Given the description of an element on the screen output the (x, y) to click on. 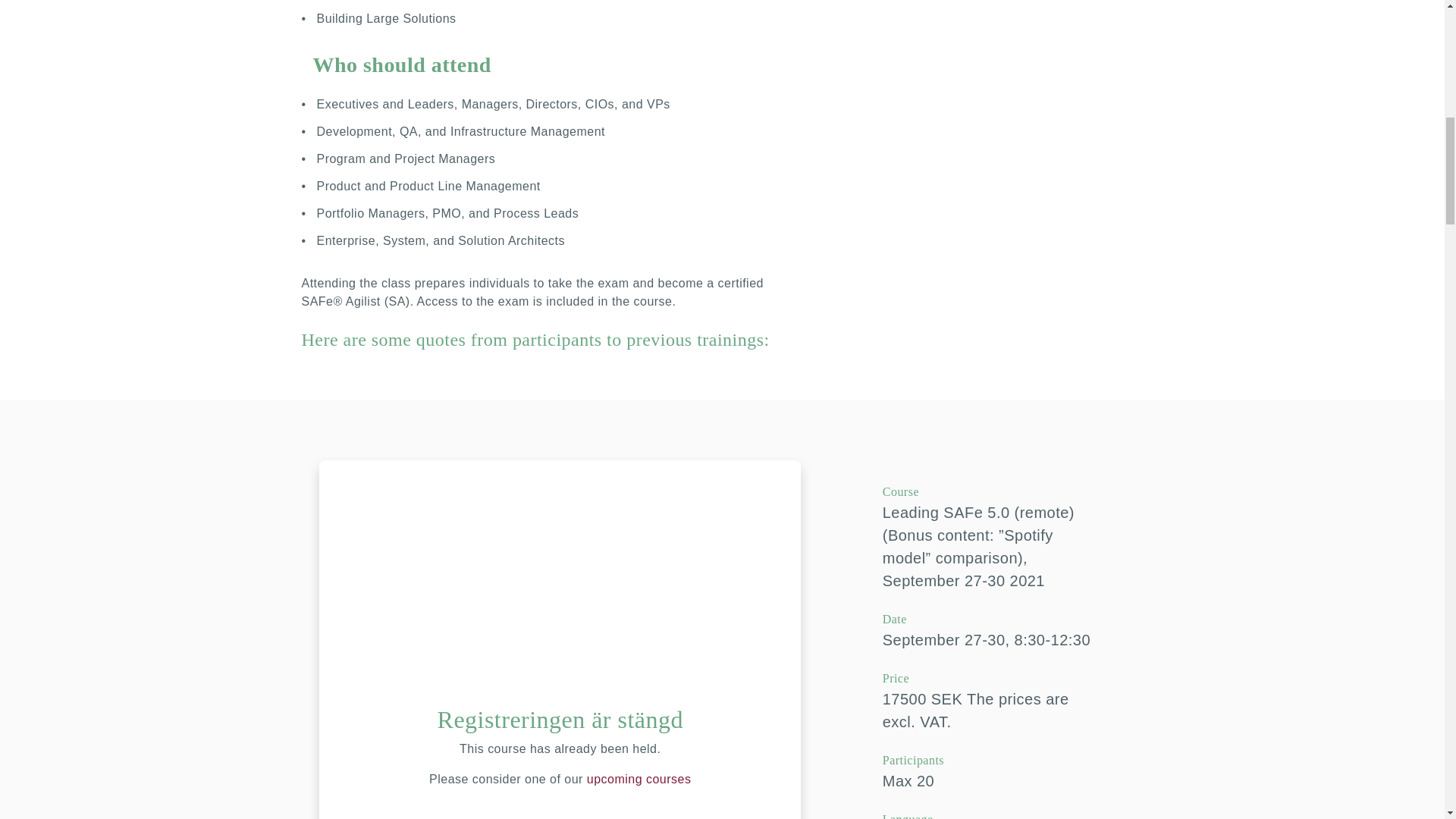
upcoming courses (638, 779)
